Given the description of an element on the screen output the (x, y) to click on. 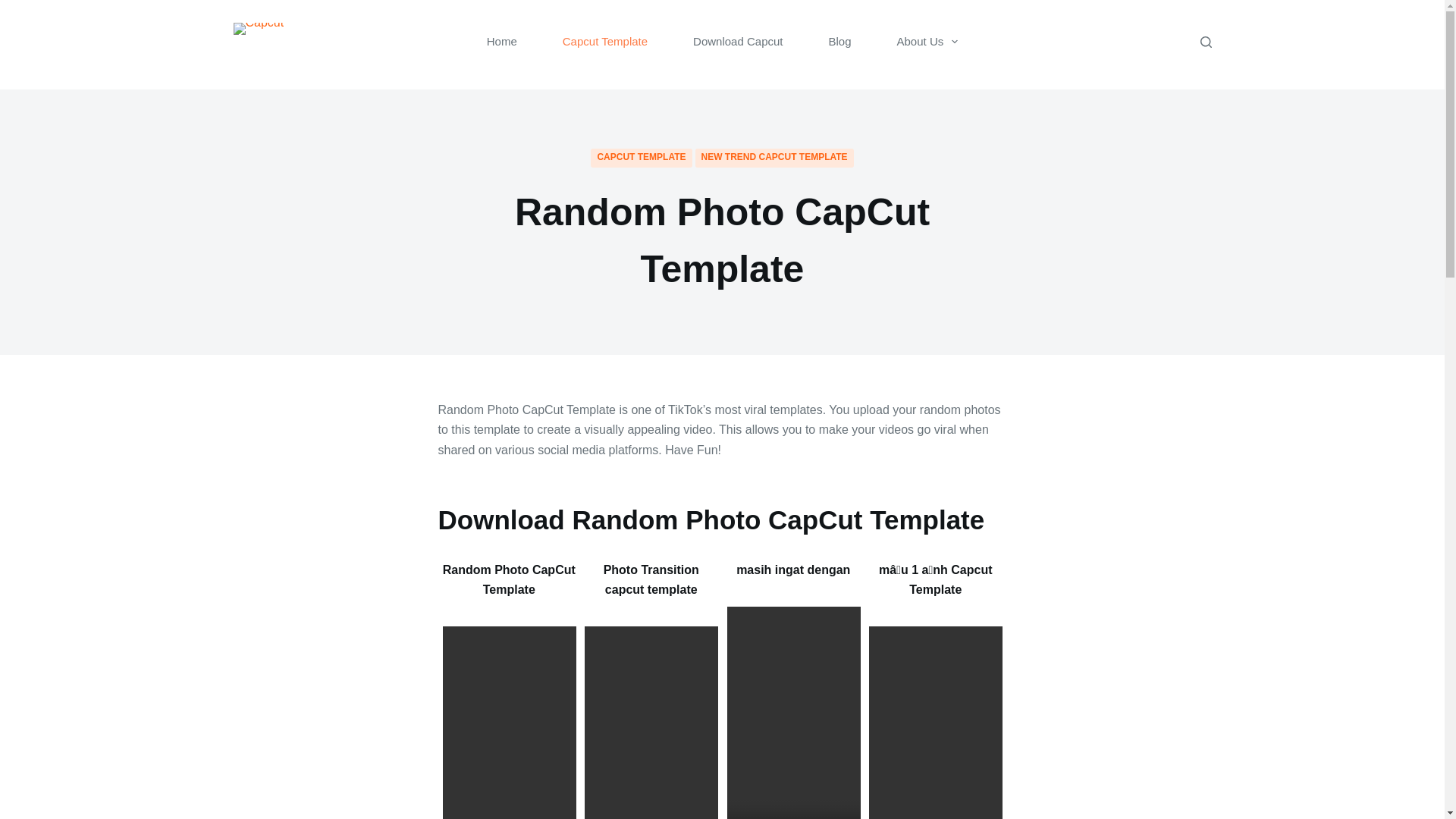
Home (502, 41)
Capcut Template (604, 41)
Random Photo CapCut Template (722, 240)
About Us (928, 41)
CAPCUT TEMPLATE (641, 157)
Download Capcut (737, 41)
Skip to content (15, 7)
